Given the description of an element on the screen output the (x, y) to click on. 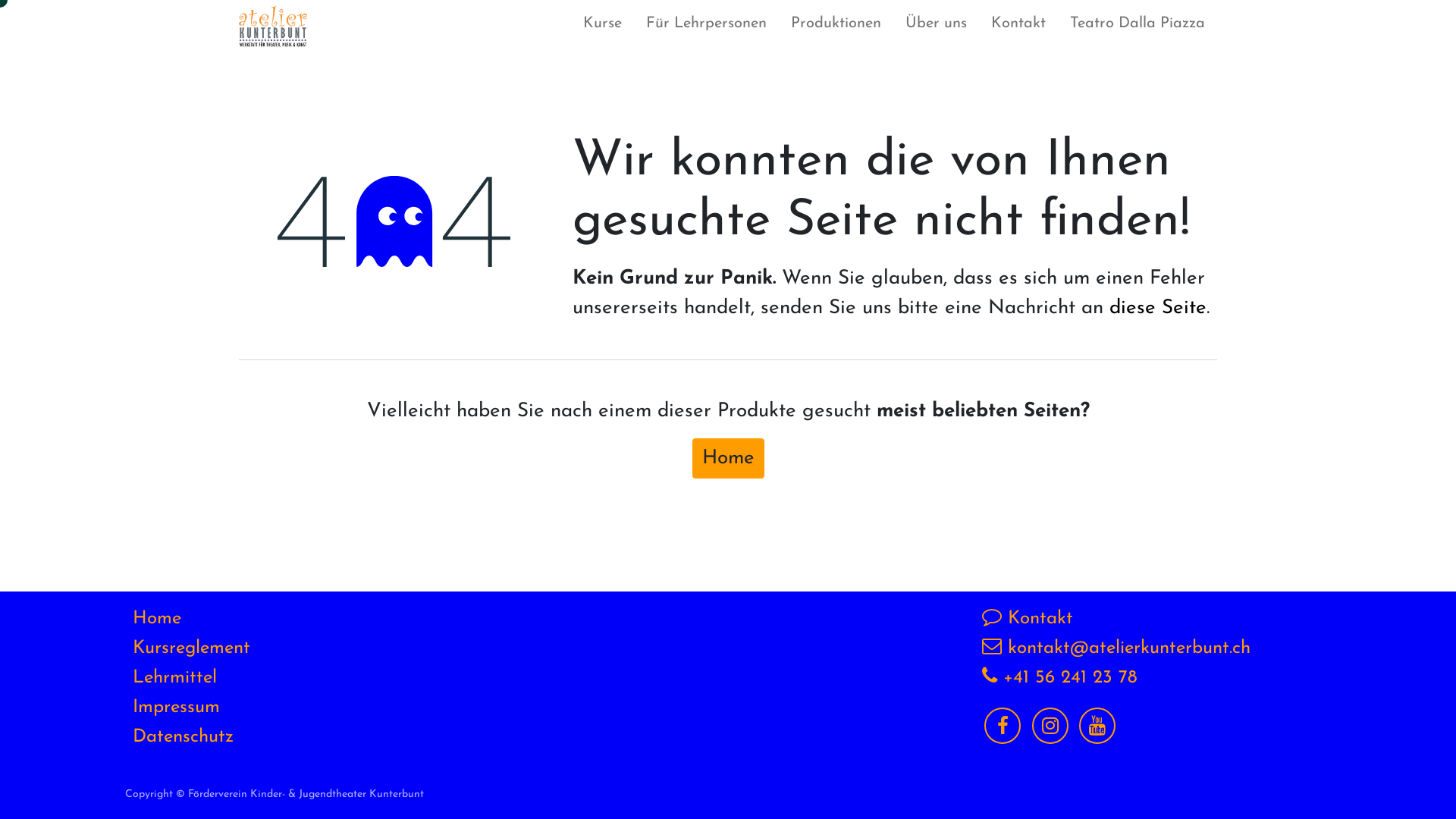
Home Element type: text (156, 618)
Atelier Kunterbunt Element type: hover (272, 26)
Produktionen Element type: text (835, 26)
Kursreglement Element type: text (191, 648)
Impressum Element type: text (175, 707)
Home Element type: text (727, 458)
Kontakt Element type: text (1040, 618)
Teatro Dalla Piazza Element type: text (1137, 26)
Datenschutz Element type: text (182, 737)
diese Seite Element type: text (1157, 308)
Kontakt Element type: text (1018, 26)
Kurse Element type: text (602, 26)
Lehrmittel Element type: text (174, 677)
